Given the description of an element on the screen output the (x, y) to click on. 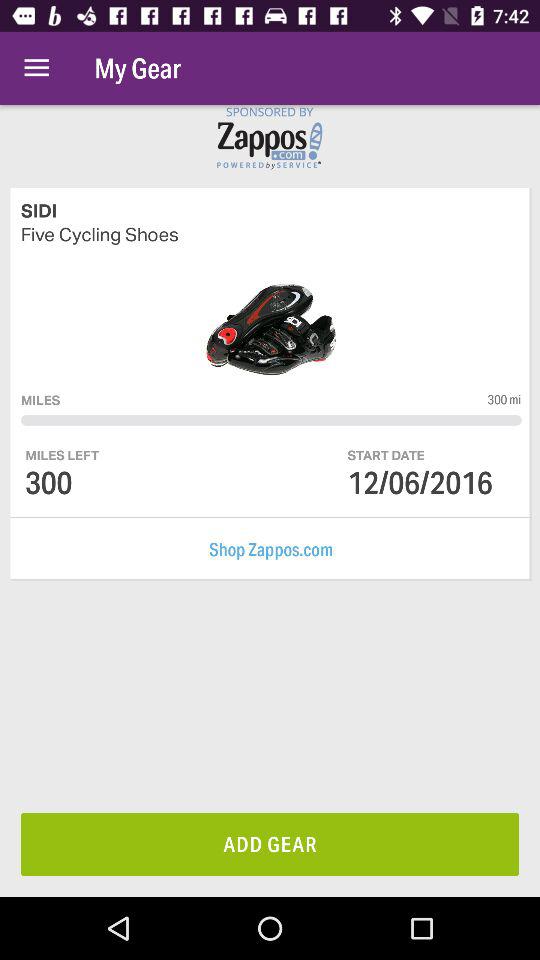
turn off add gear (270, 844)
